Given the description of an element on the screen output the (x, y) to click on. 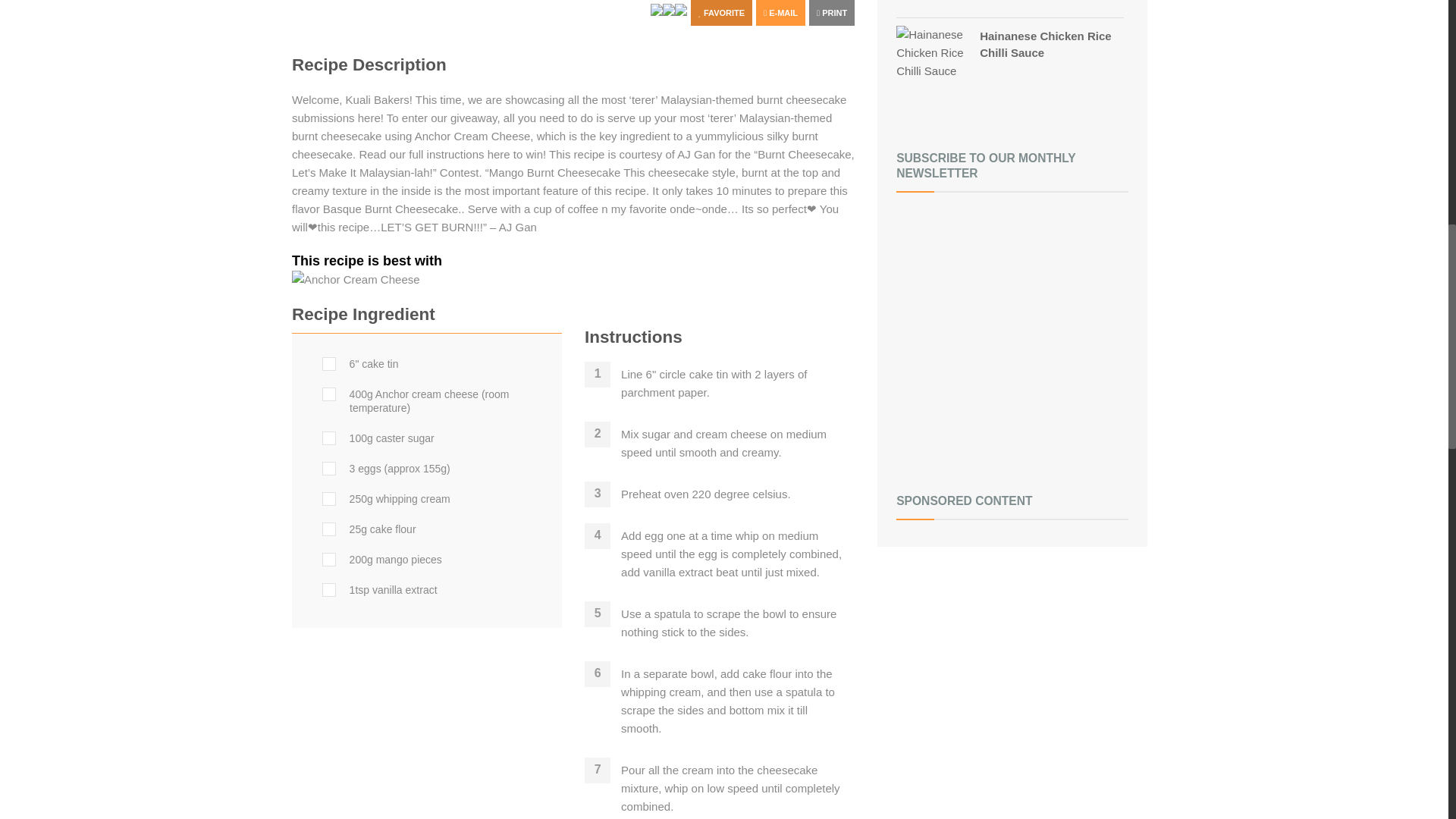
FAVORITE (721, 12)
PRINT (831, 12)
E-MAIL (780, 12)
Save Recipe (721, 12)
